Given the description of an element on the screen output the (x, y) to click on. 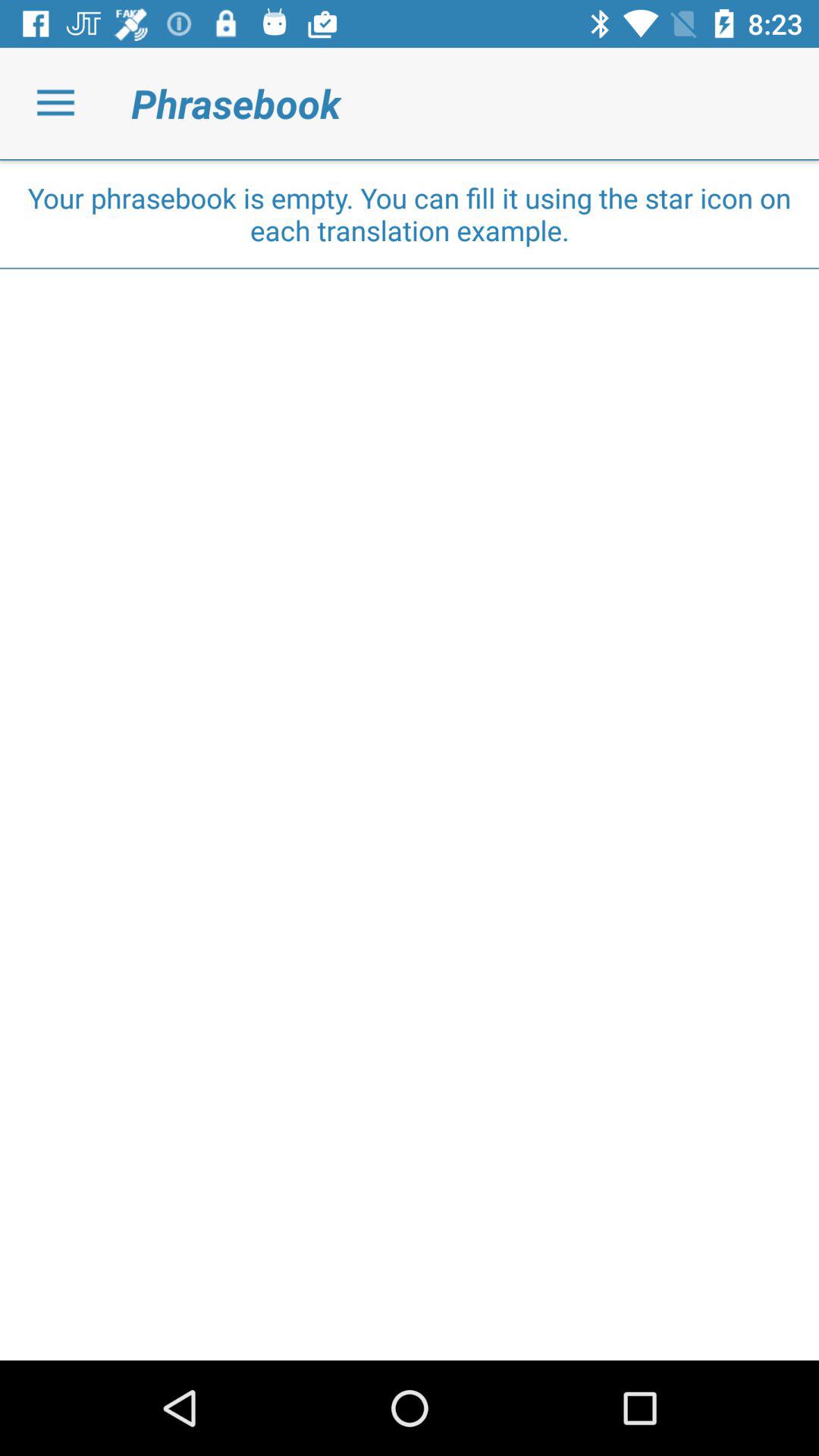
launch the your phrasebook is icon (409, 214)
